Given the description of an element on the screen output the (x, y) to click on. 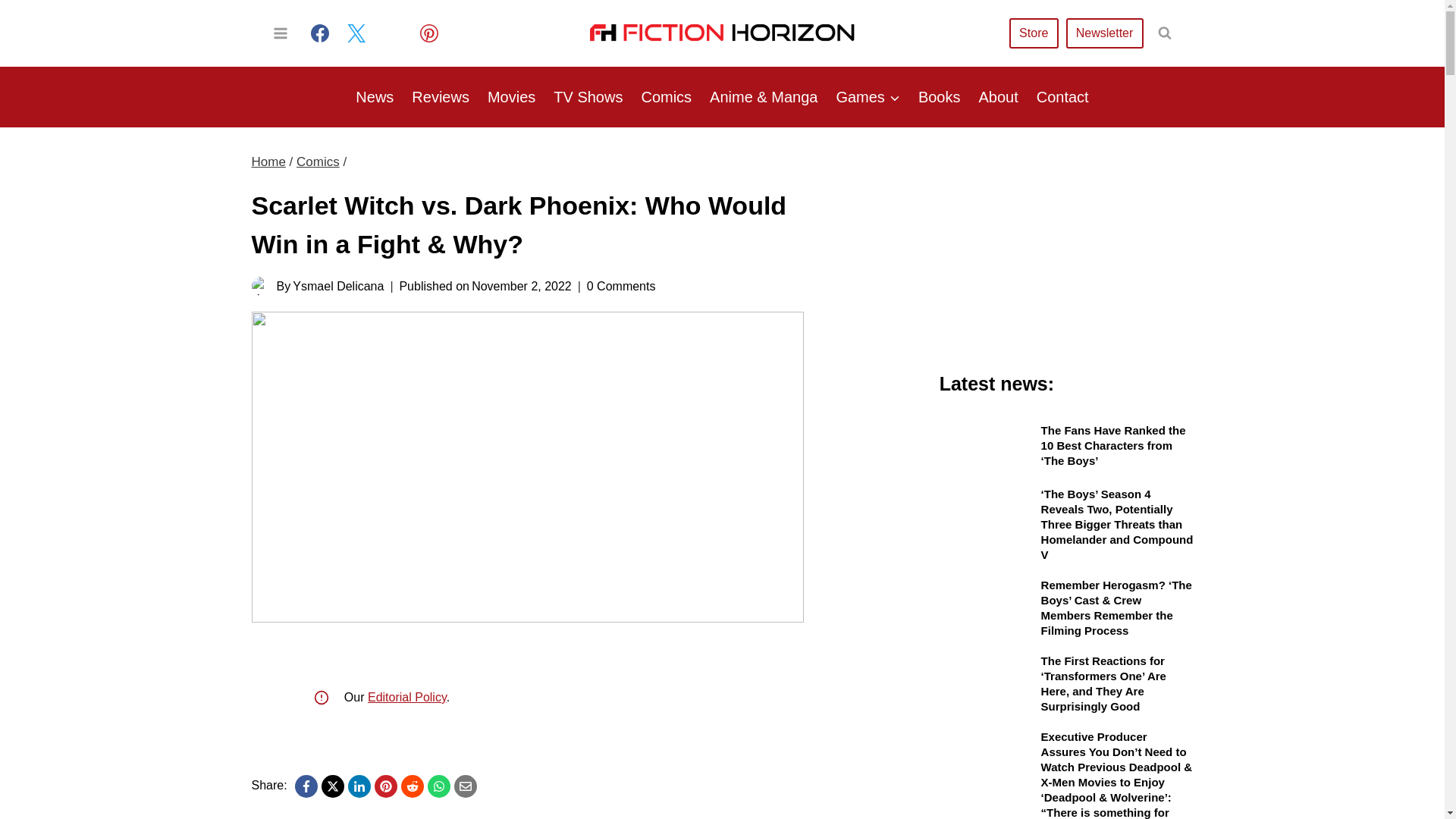
Home (268, 161)
TV Shows (587, 96)
Editorial Policy (407, 697)
Movies (511, 96)
Ysmael Delicana (338, 286)
Contact (1062, 96)
Store (1033, 32)
0 Comments (621, 286)
Books (938, 96)
0 Comments (621, 286)
Newsletter (1103, 32)
News (374, 96)
Comics (665, 96)
Reviews (441, 96)
Games (867, 96)
